Given the description of an element on the screen output the (x, y) to click on. 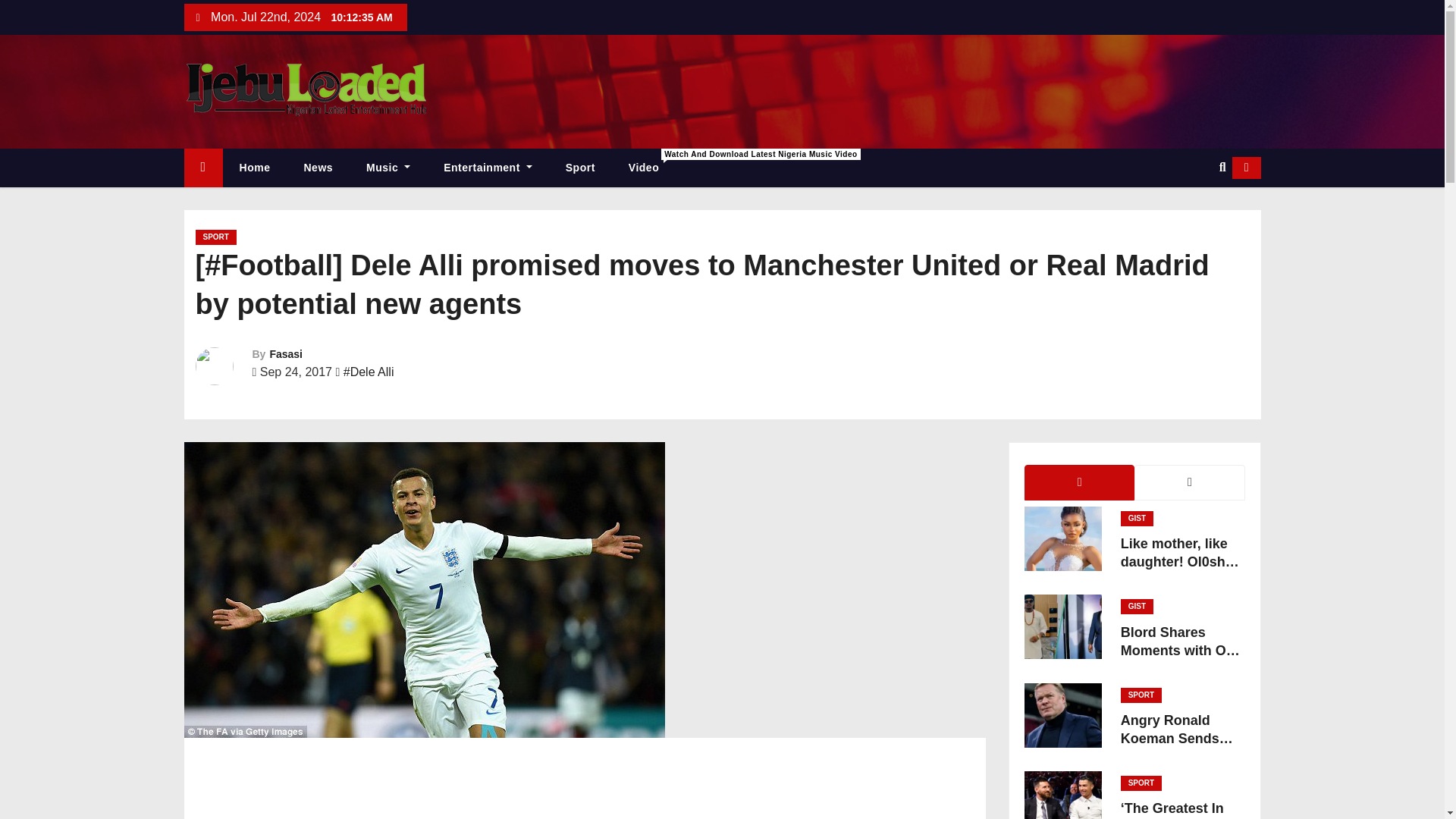
Video (643, 167)
Music (387, 167)
Home (254, 167)
Home (254, 167)
Fasasi (285, 354)
Entertainment (487, 167)
Sport (579, 167)
Sport (579, 167)
News (317, 167)
SPORT (215, 237)
News (317, 167)
Home (202, 167)
Advertisement (584, 787)
Music (643, 167)
